Given the description of an element on the screen output the (x, y) to click on. 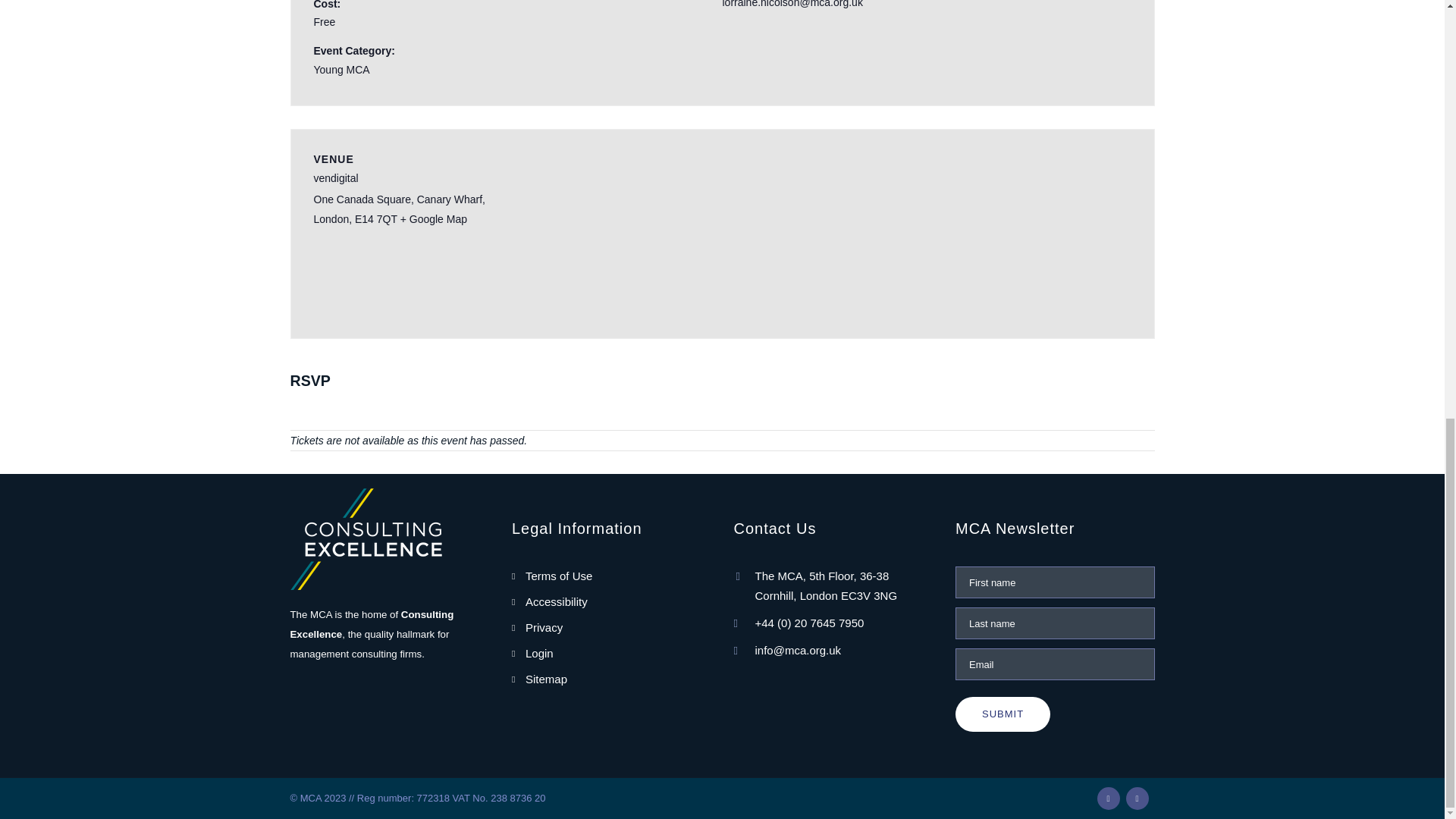
Email (1054, 664)
First name (1054, 582)
Google maps iframe displaying the address to vendigital (1051, 233)
Last name (1054, 623)
Click to view a Google Map (433, 218)
